Given the description of an element on the screen output the (x, y) to click on. 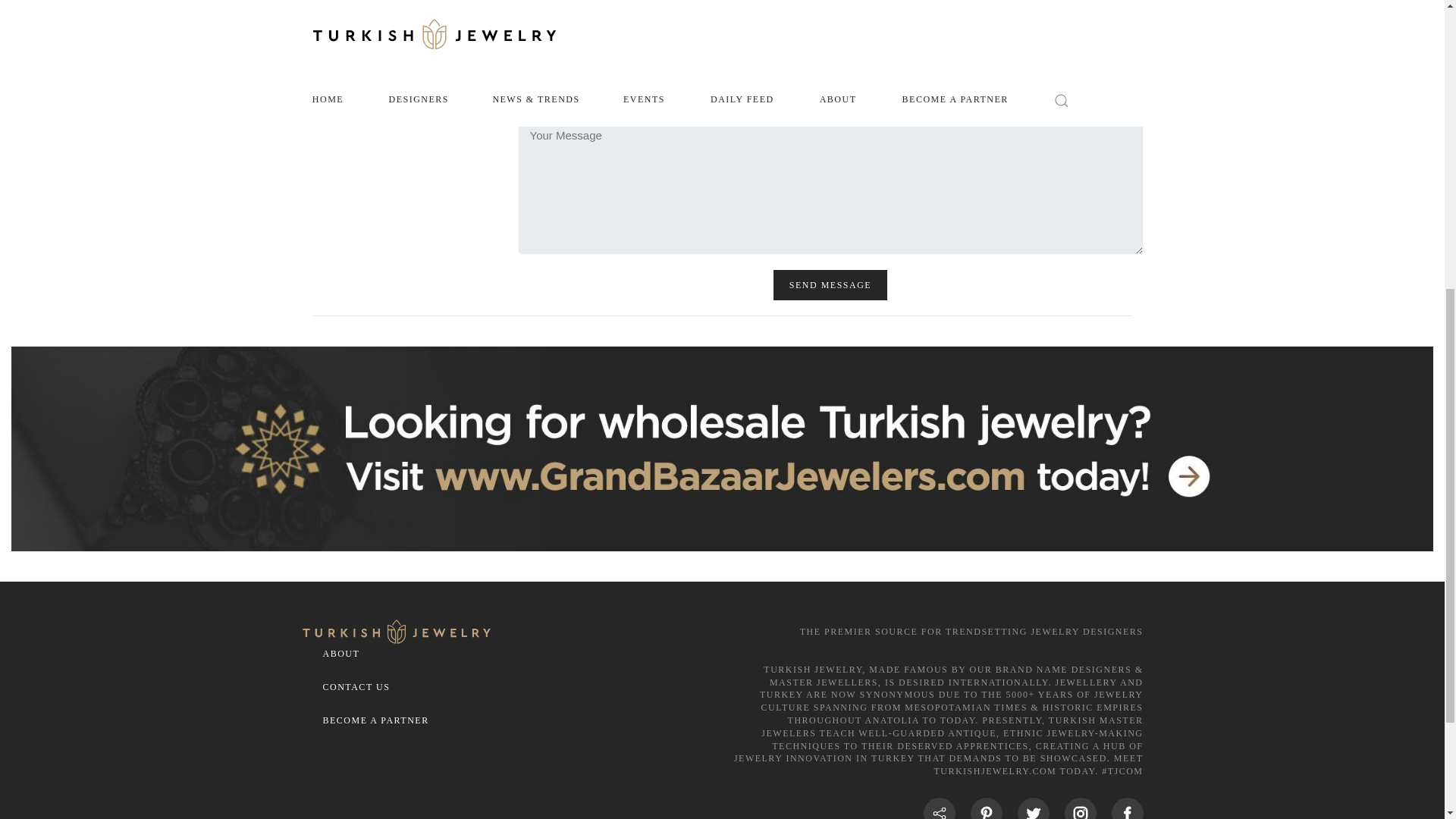
SEND MESSAGE (829, 285)
